Given the description of an element on the screen output the (x, y) to click on. 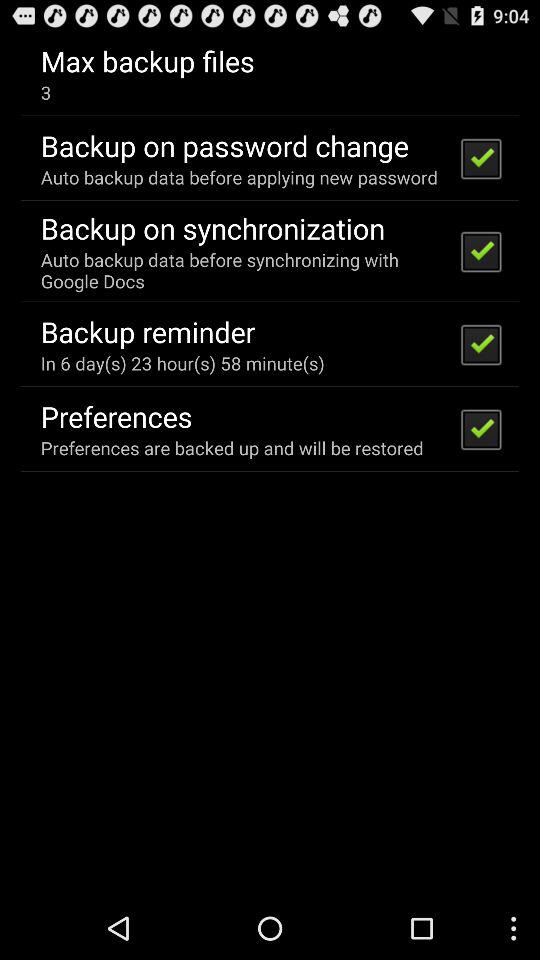
open the item above backup on password (45, 92)
